Given the description of an element on the screen output the (x, y) to click on. 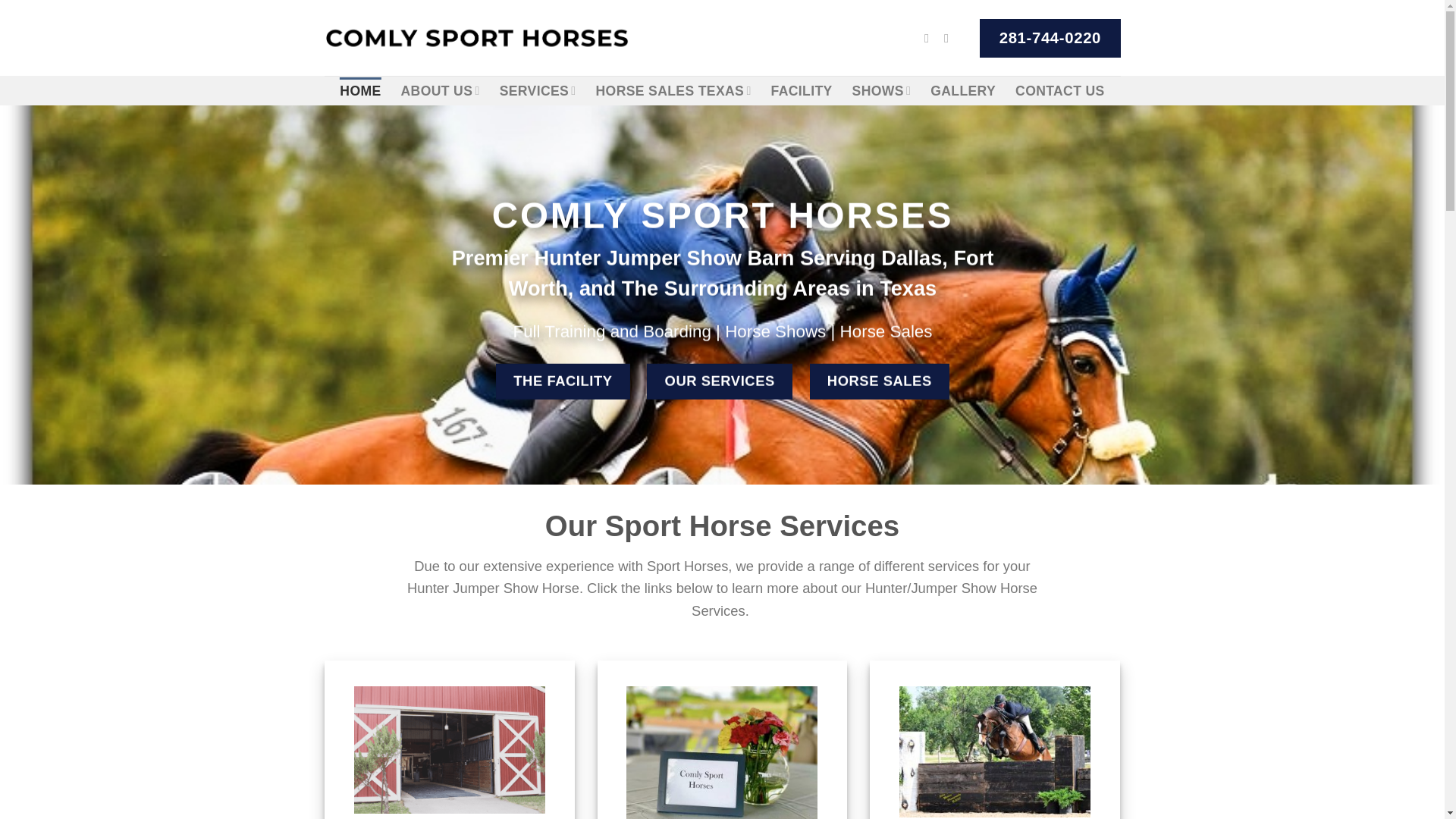
SHOWS (881, 90)
HORSE SALES (879, 380)
Full Training and Boarding (611, 331)
281-744-0220 (1049, 37)
OUR SERVICES (719, 380)
FACILITY (801, 90)
CONTACT US (1059, 90)
SERVICES (537, 90)
HOME (359, 90)
HORSE SHOWS (722, 751)
HORSE SALES TEXAS (673, 90)
THE FACILITY (562, 380)
Horse Sales (882, 331)
Horse Shows (777, 331)
ABOUT US (440, 90)
